Given the description of an element on the screen output the (x, y) to click on. 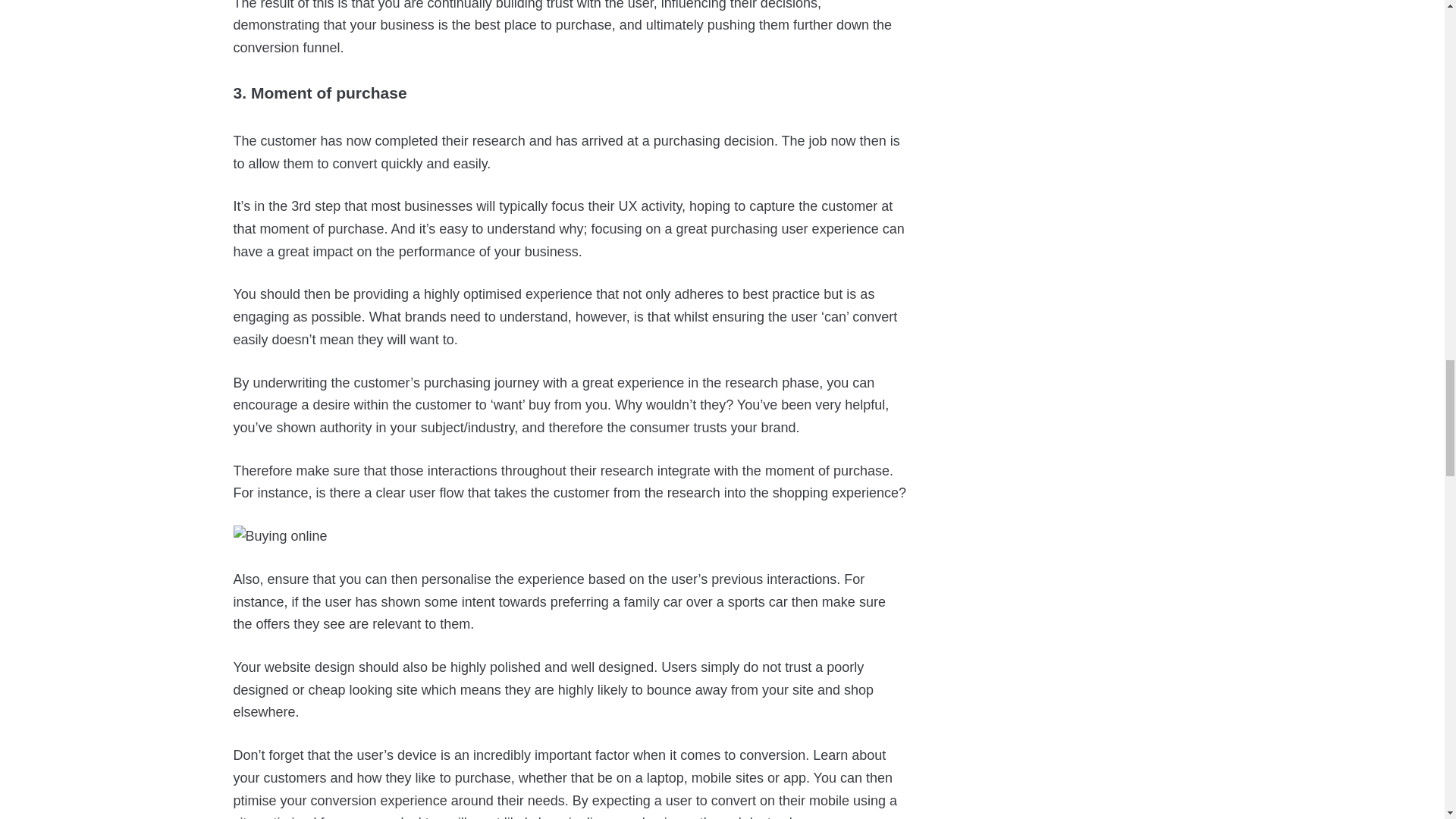
Understanding UX in the purchasing journey 6 (279, 536)
